Given the description of an element on the screen output the (x, y) to click on. 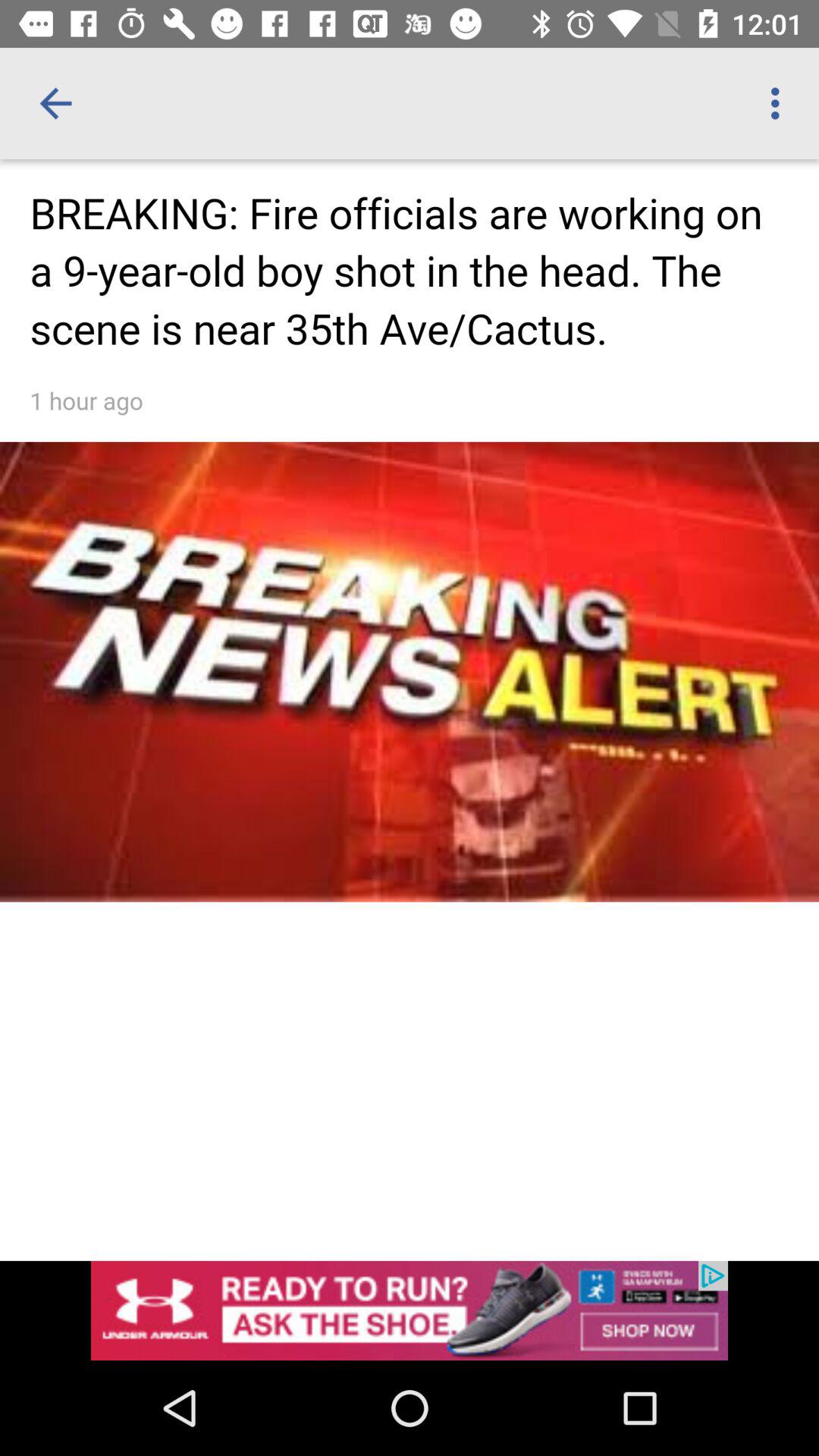
open the story (409, 641)
